Given the description of an element on the screen output the (x, y) to click on. 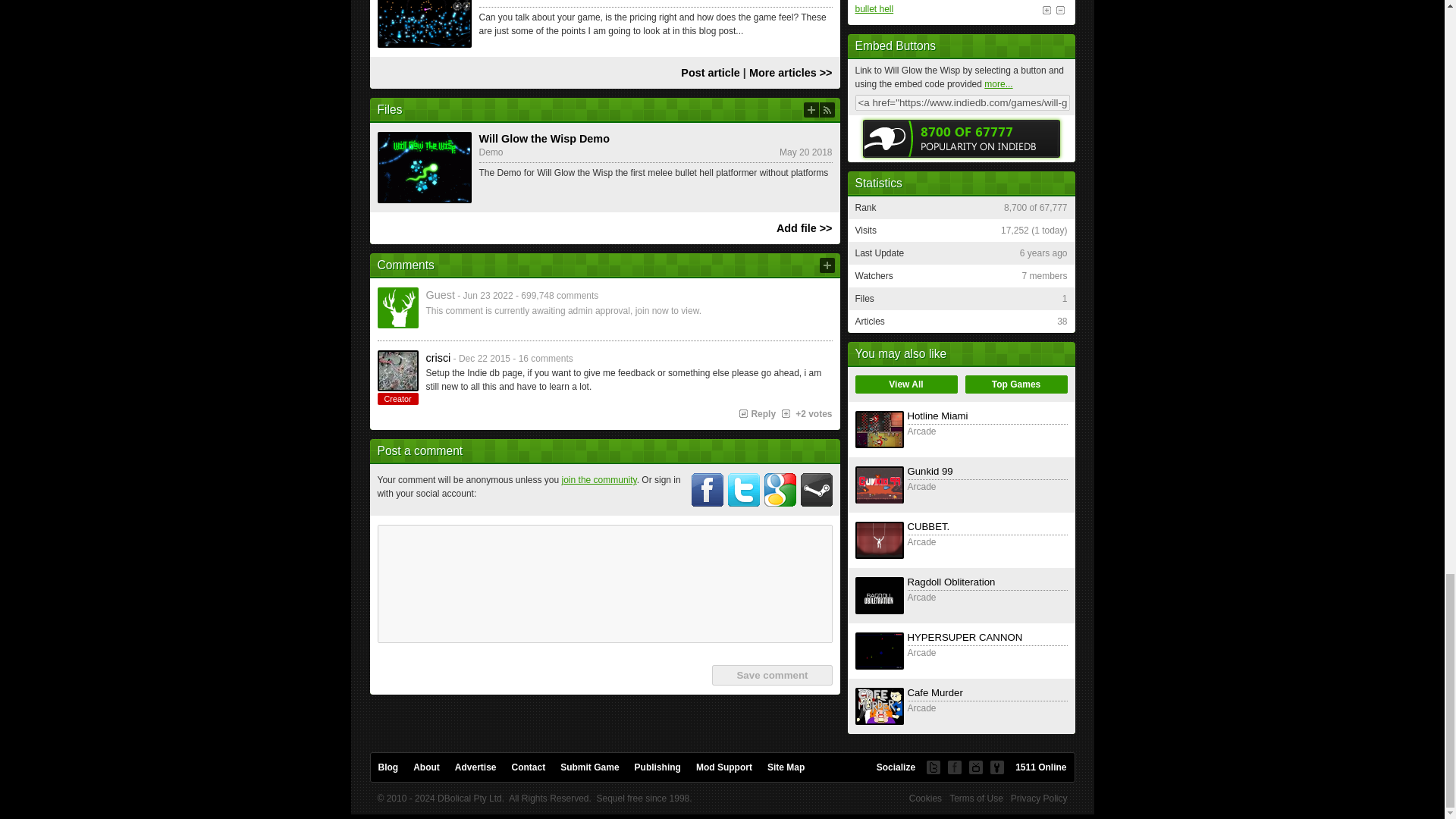
Save comment (771, 675)
